Given the description of an element on the screen output the (x, y) to click on. 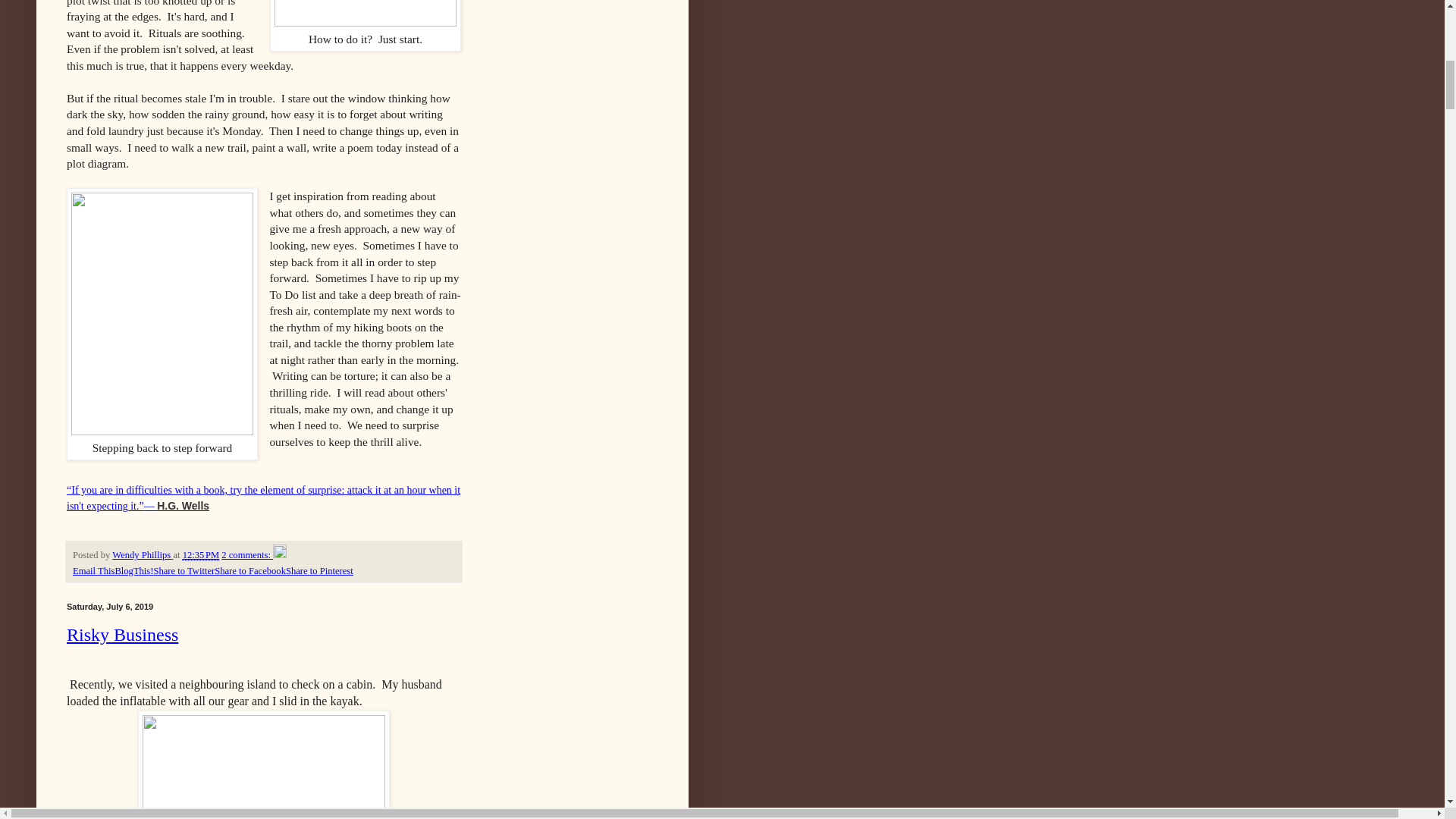
Share to Twitter (183, 570)
Edit Post (279, 554)
Risky Business (121, 634)
permanent link (201, 554)
2 comments: (247, 554)
Email This (93, 570)
Share to Pinterest (319, 570)
Wendy Phillips (142, 554)
Share to Facebook (249, 570)
Share to Twitter (183, 570)
BlogThis! (133, 570)
Share to Pinterest (319, 570)
BlogThis! (133, 570)
Email This (93, 570)
